Given the description of an element on the screen output the (x, y) to click on. 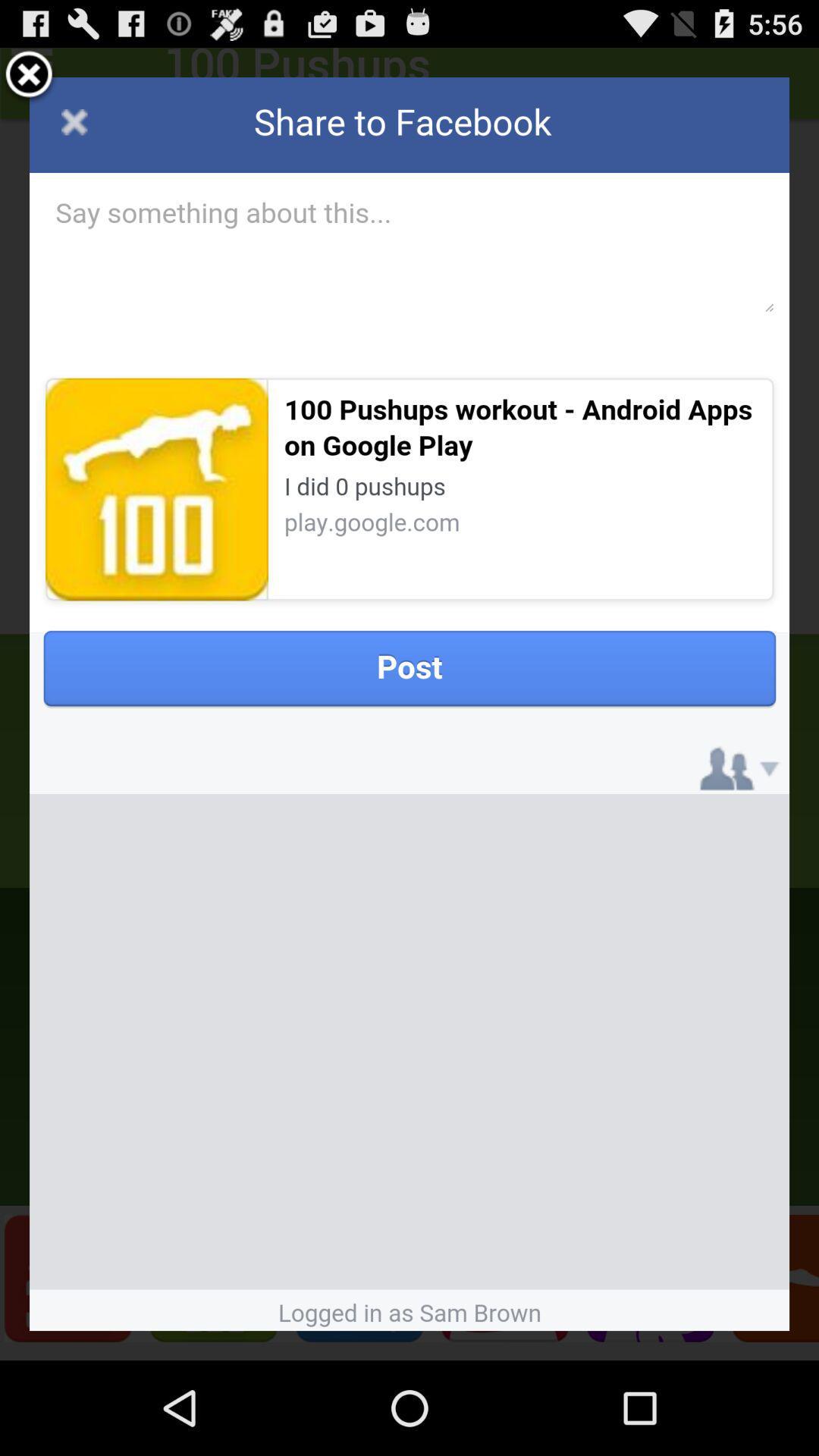
close (29, 76)
